Given the description of an element on the screen output the (x, y) to click on. 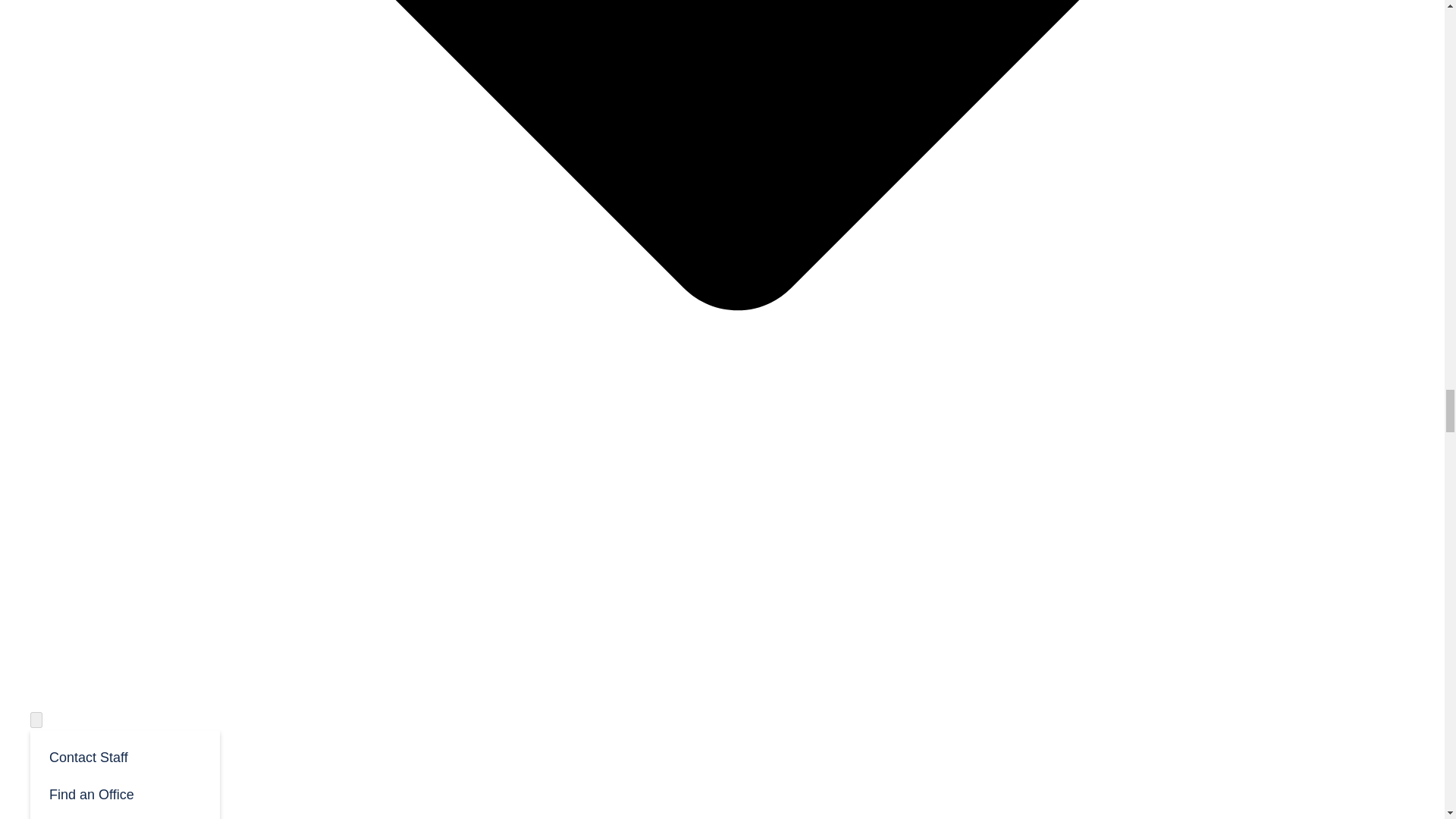
Find an Office (125, 793)
Contact Staff (125, 755)
Social Media (125, 815)
